Given the description of an element on the screen output the (x, y) to click on. 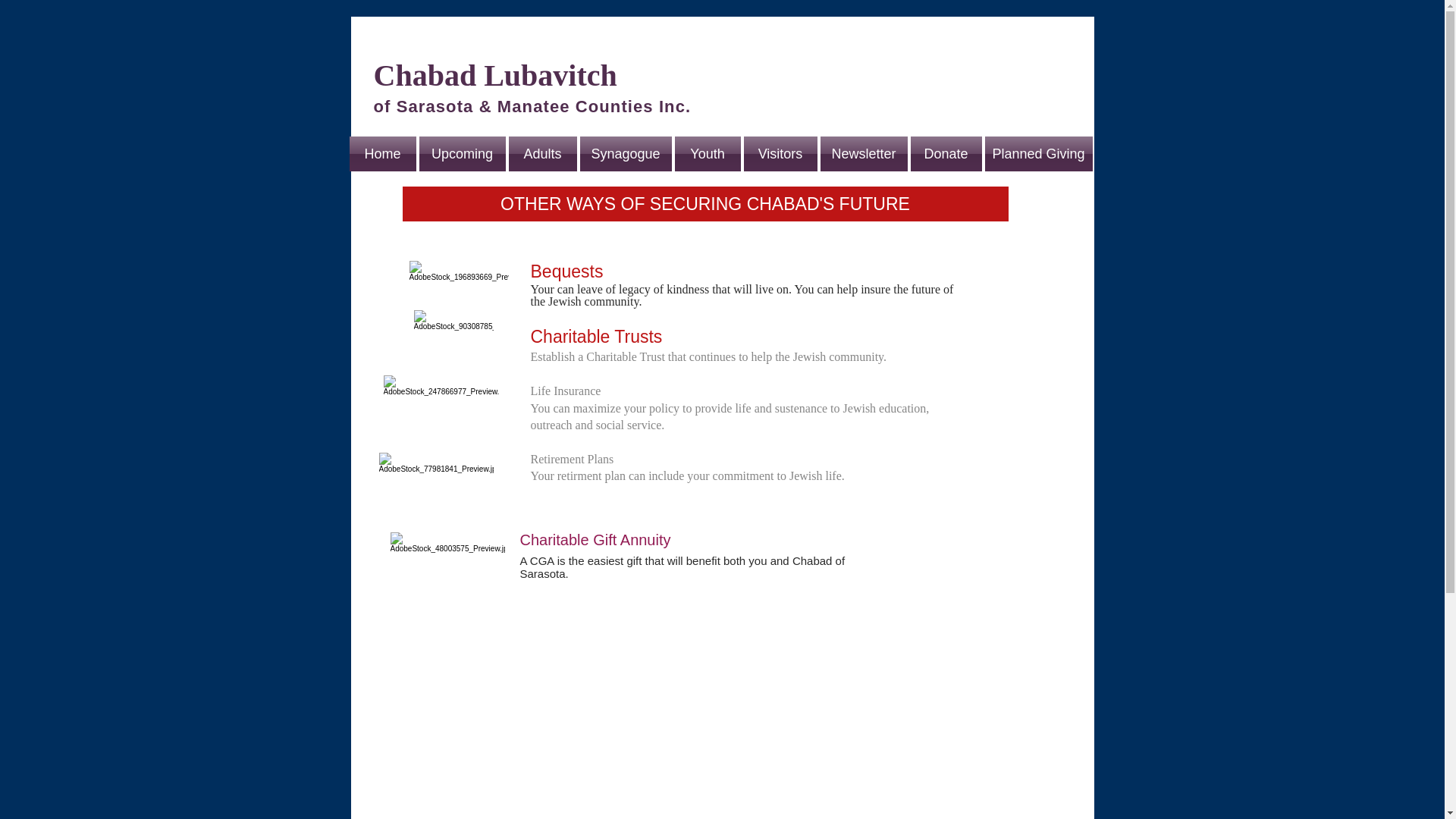
Chabad Lubavitch (493, 75)
Home (382, 153)
Newsletter (863, 153)
Donate (945, 153)
Visitors (779, 153)
